Given the description of an element on the screen output the (x, y) to click on. 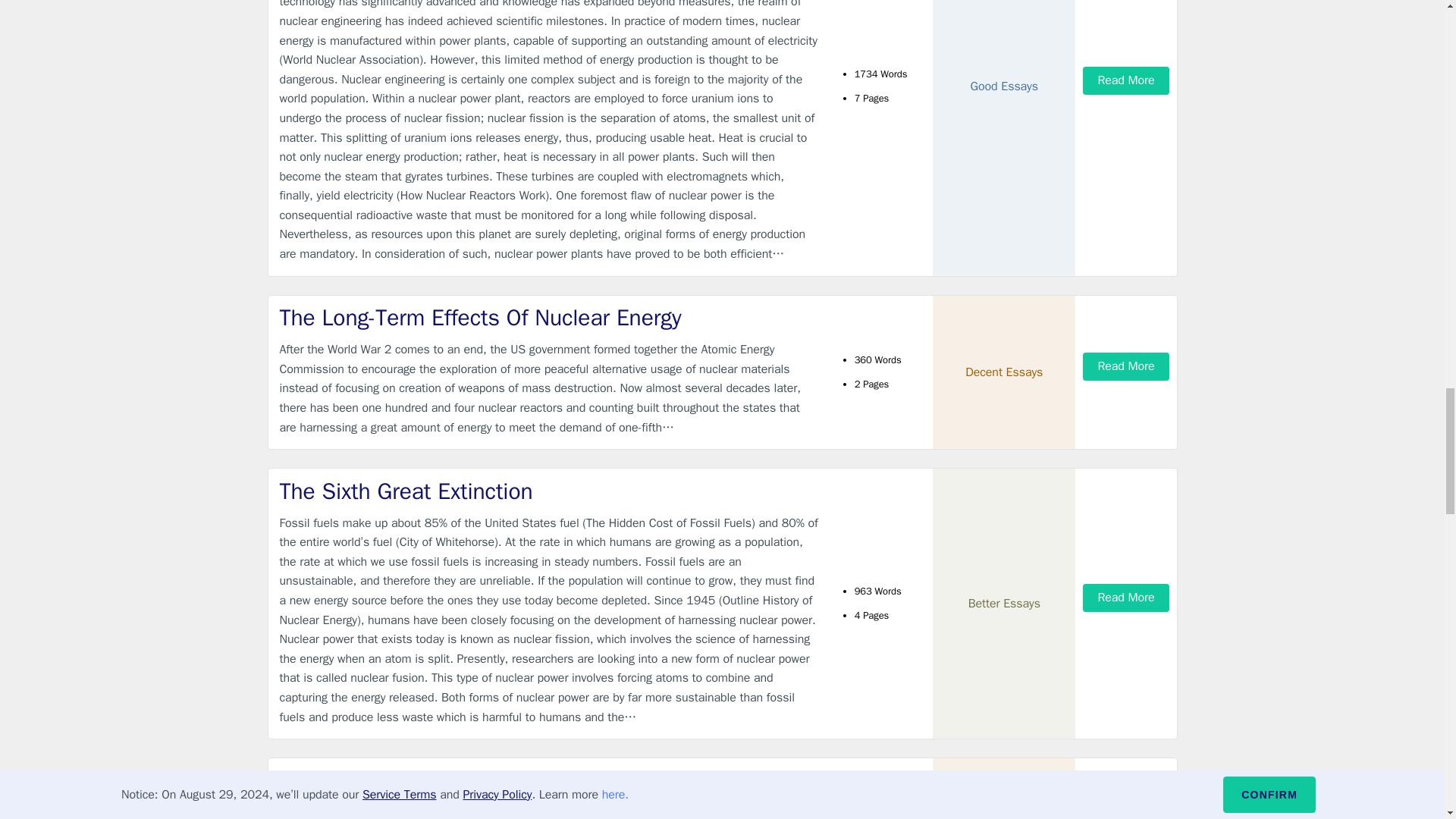
Read More (1126, 80)
Read More (1126, 366)
The Long-Term Effects Of Nuclear Energy (548, 317)
